Given the description of an element on the screen output the (x, y) to click on. 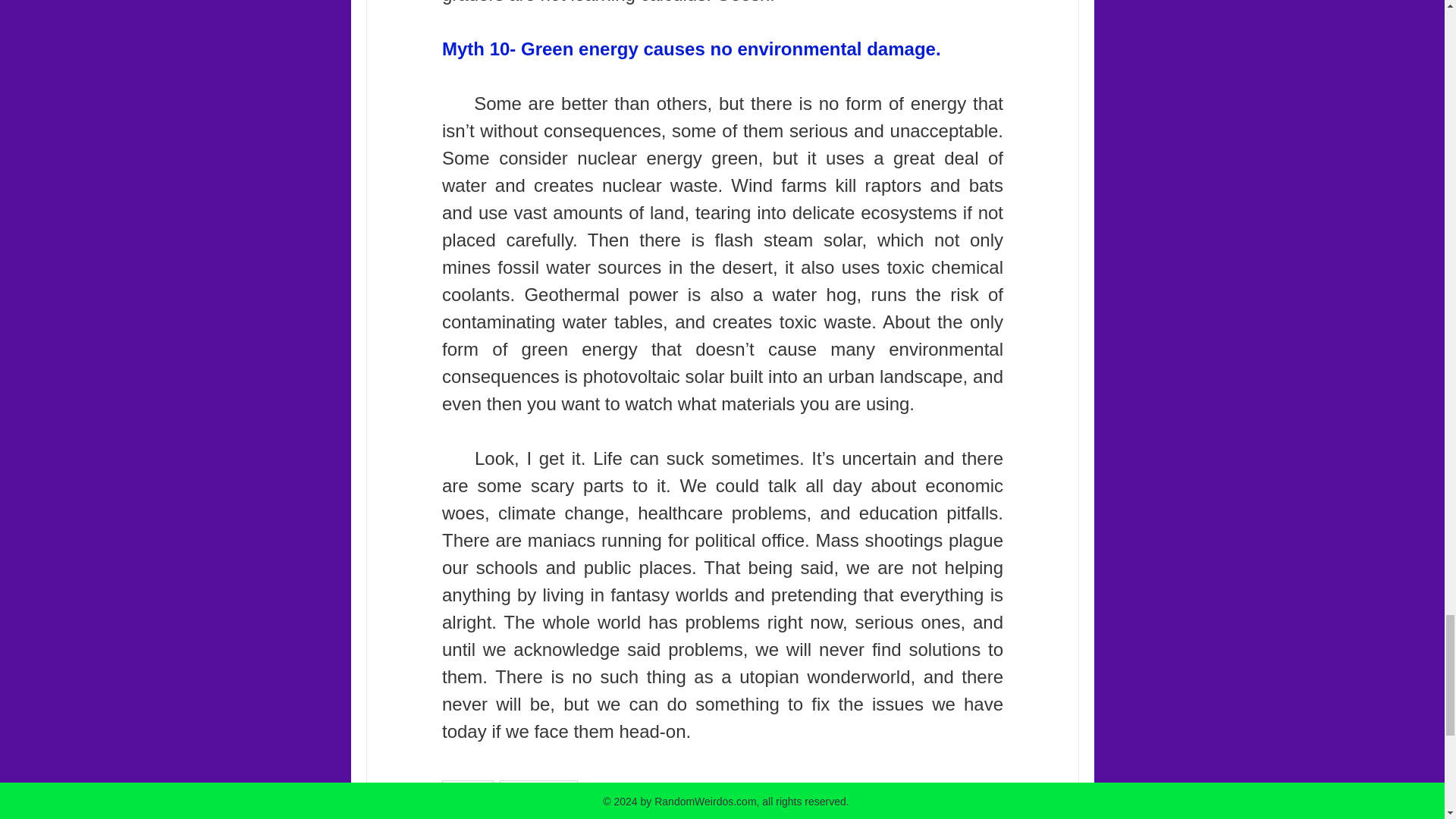
politics (467, 791)
environment (538, 791)
